Given the description of an element on the screen output the (x, y) to click on. 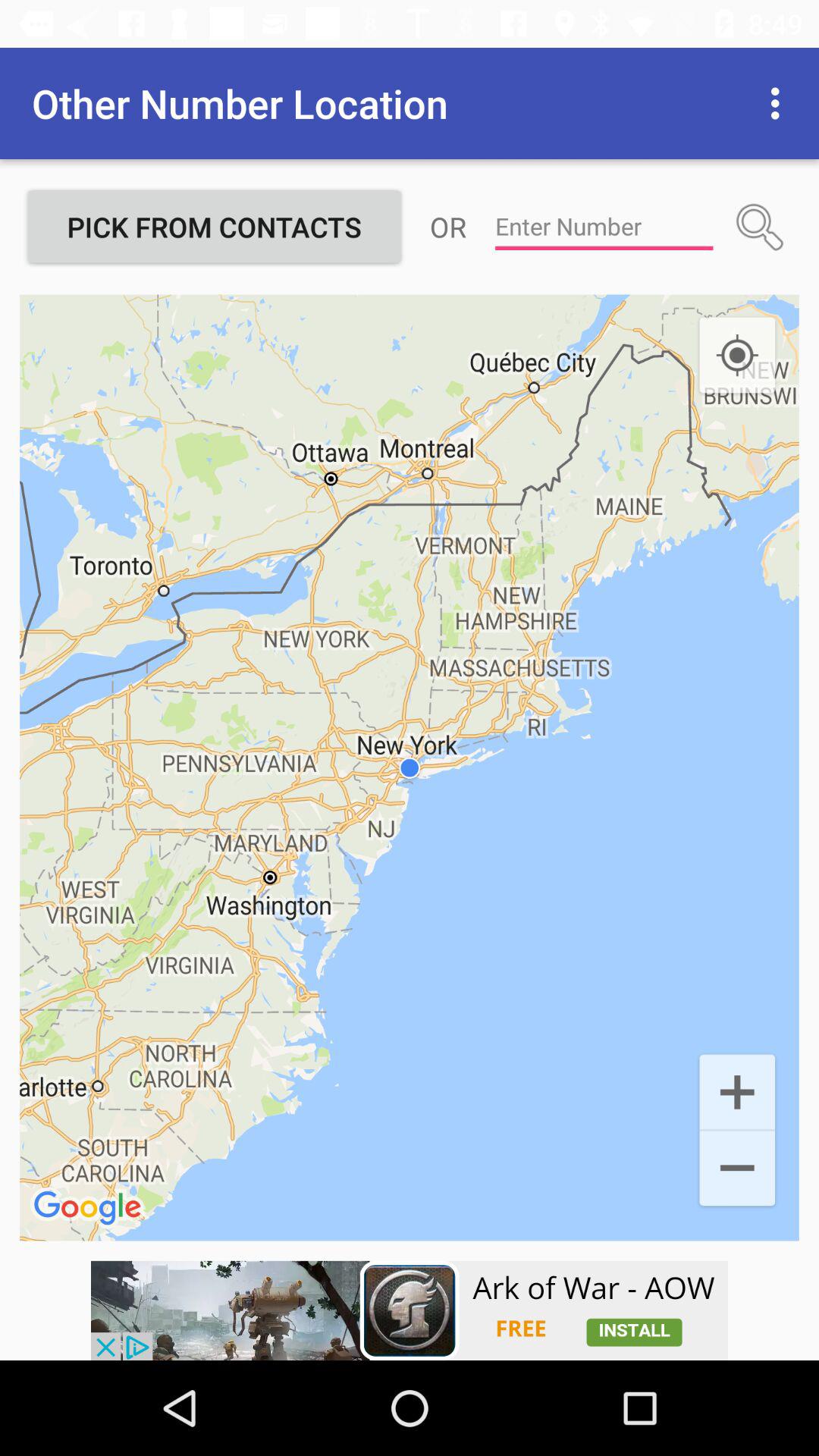
search map (759, 226)
